Given the description of an element on the screen output the (x, y) to click on. 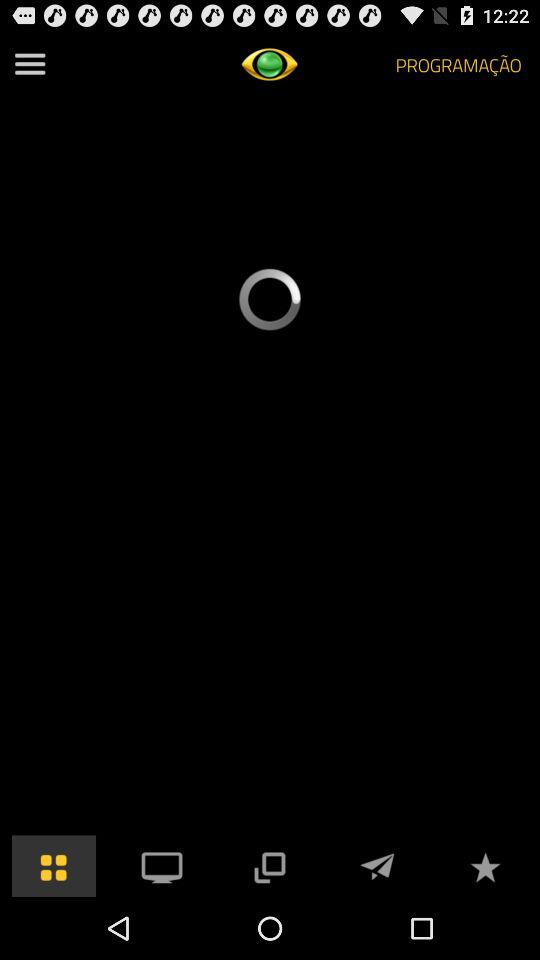
pc option (162, 865)
